Given the description of an element on the screen output the (x, y) to click on. 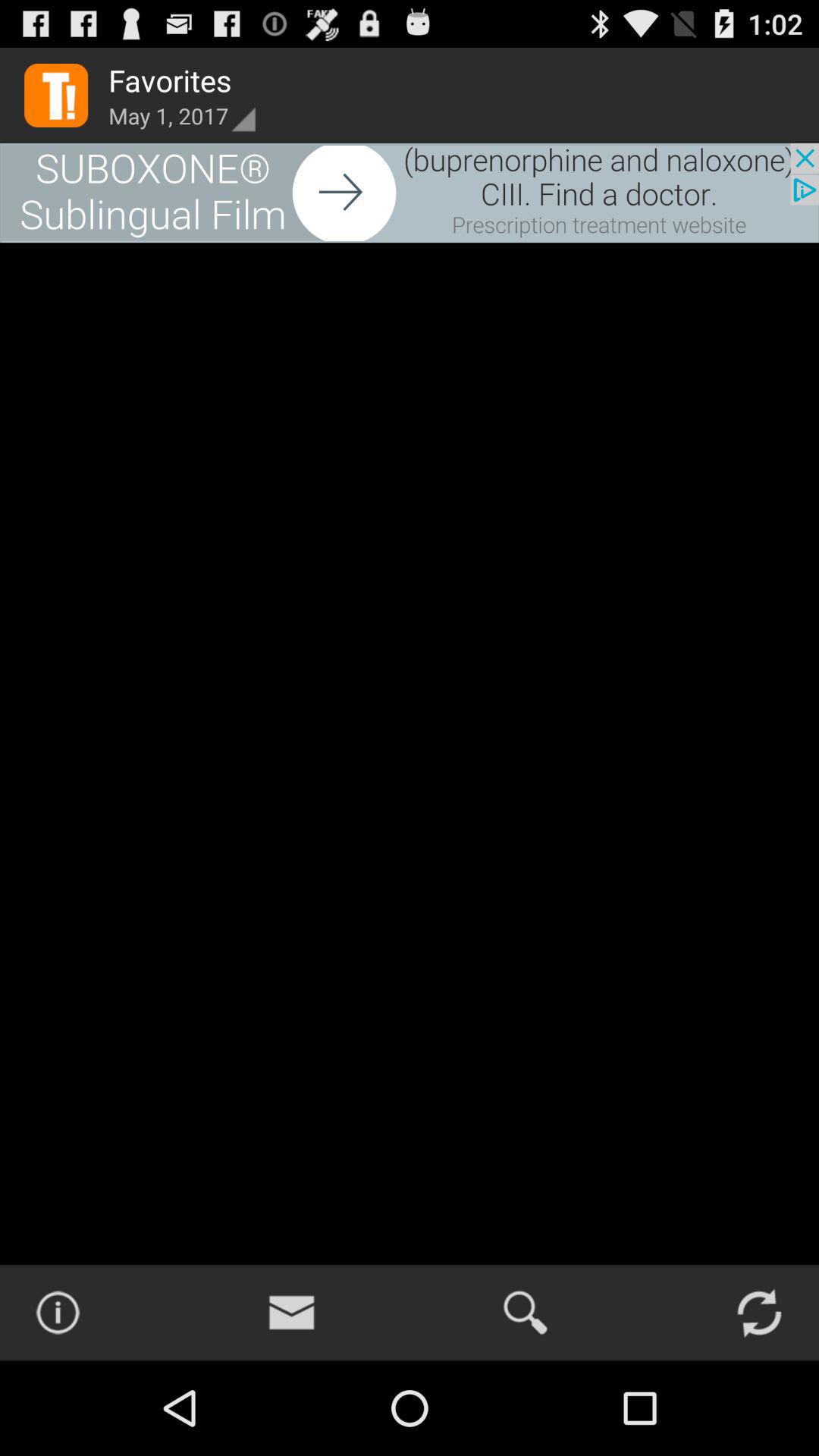
redirects you to offer page (409, 192)
